Given the description of an element on the screen output the (x, y) to click on. 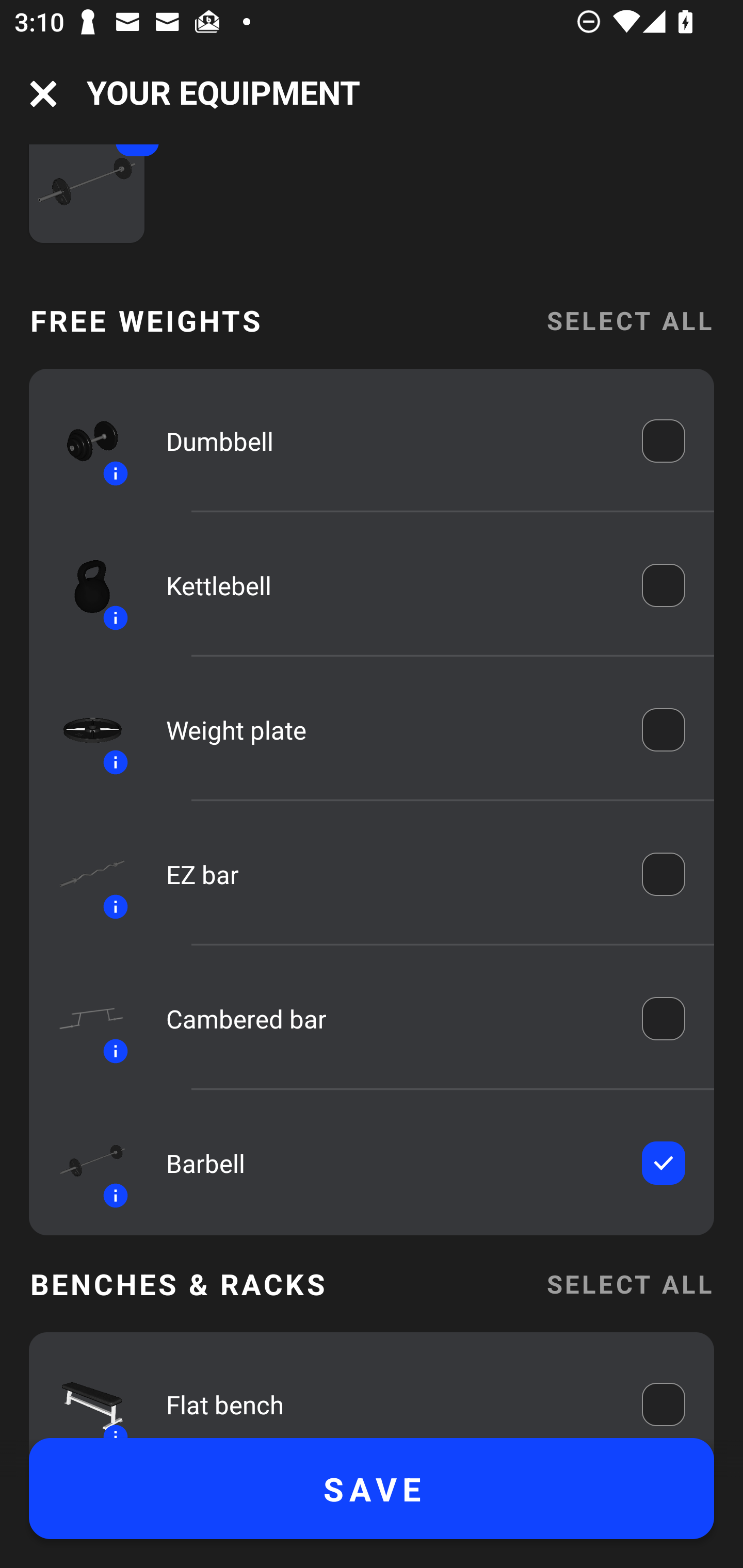
Navigation icon (43, 93)
SELECT ALL (629, 320)
Equipment icon Information icon (82, 441)
Dumbbell (389, 441)
Equipment icon Information icon (82, 585)
Kettlebell (389, 585)
Equipment icon Information icon (82, 729)
Weight plate (389, 729)
Equipment icon Information icon (82, 874)
EZ bar (389, 874)
Equipment icon Information icon (82, 1018)
Cambered bar (389, 1018)
Equipment icon Information icon (82, 1162)
Barbell (389, 1162)
SELECT ALL (629, 1283)
Equipment icon Information icon (82, 1393)
Flat bench (389, 1399)
SAVE (371, 1488)
